Given the description of an element on the screen output the (x, y) to click on. 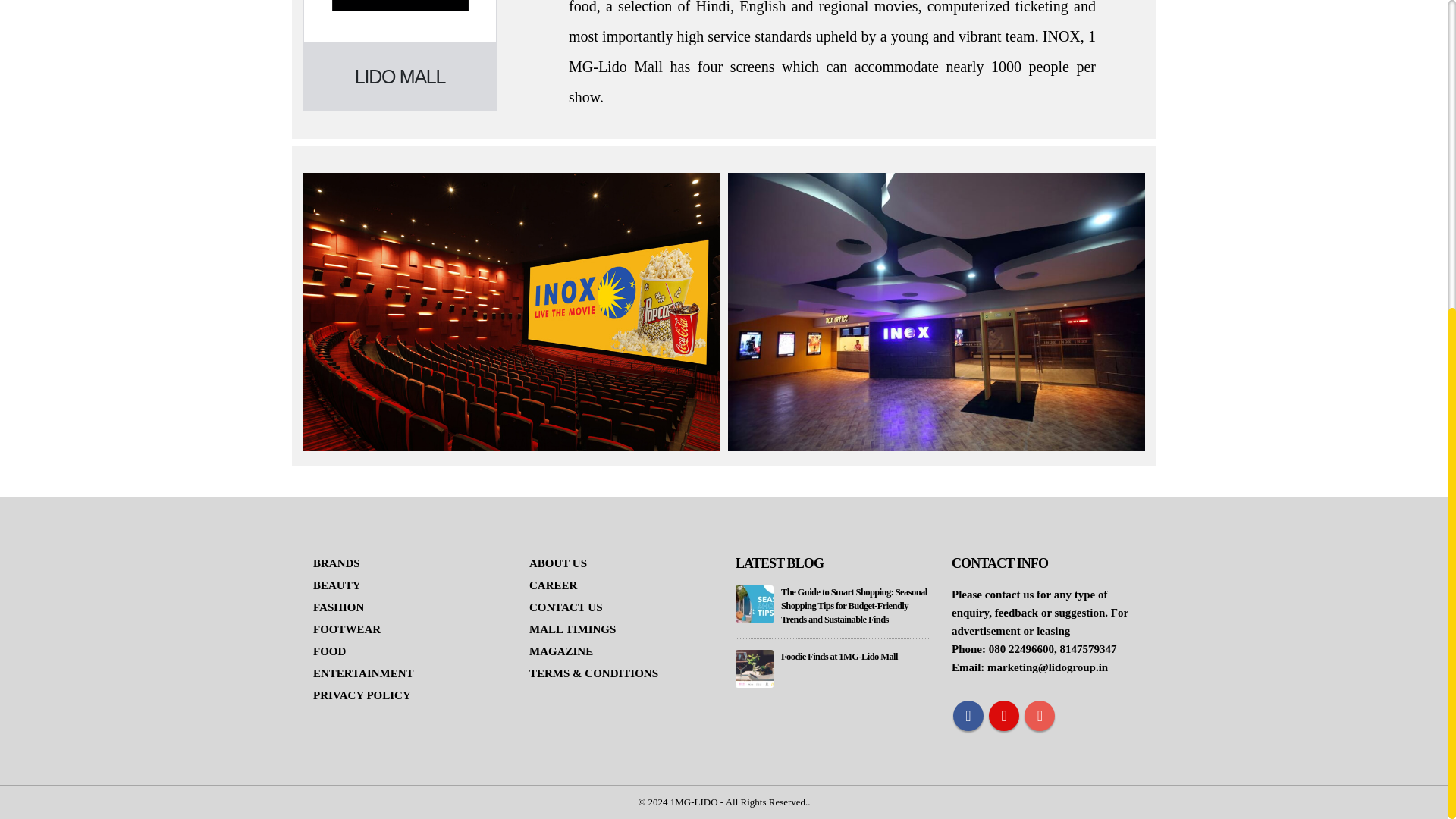
Facebook (968, 716)
Youtube (1003, 716)
inox-logo (399, 5)
Instagram (1039, 716)
inox2 (936, 311)
inox1 (511, 311)
